Given the description of an element on the screen output the (x, y) to click on. 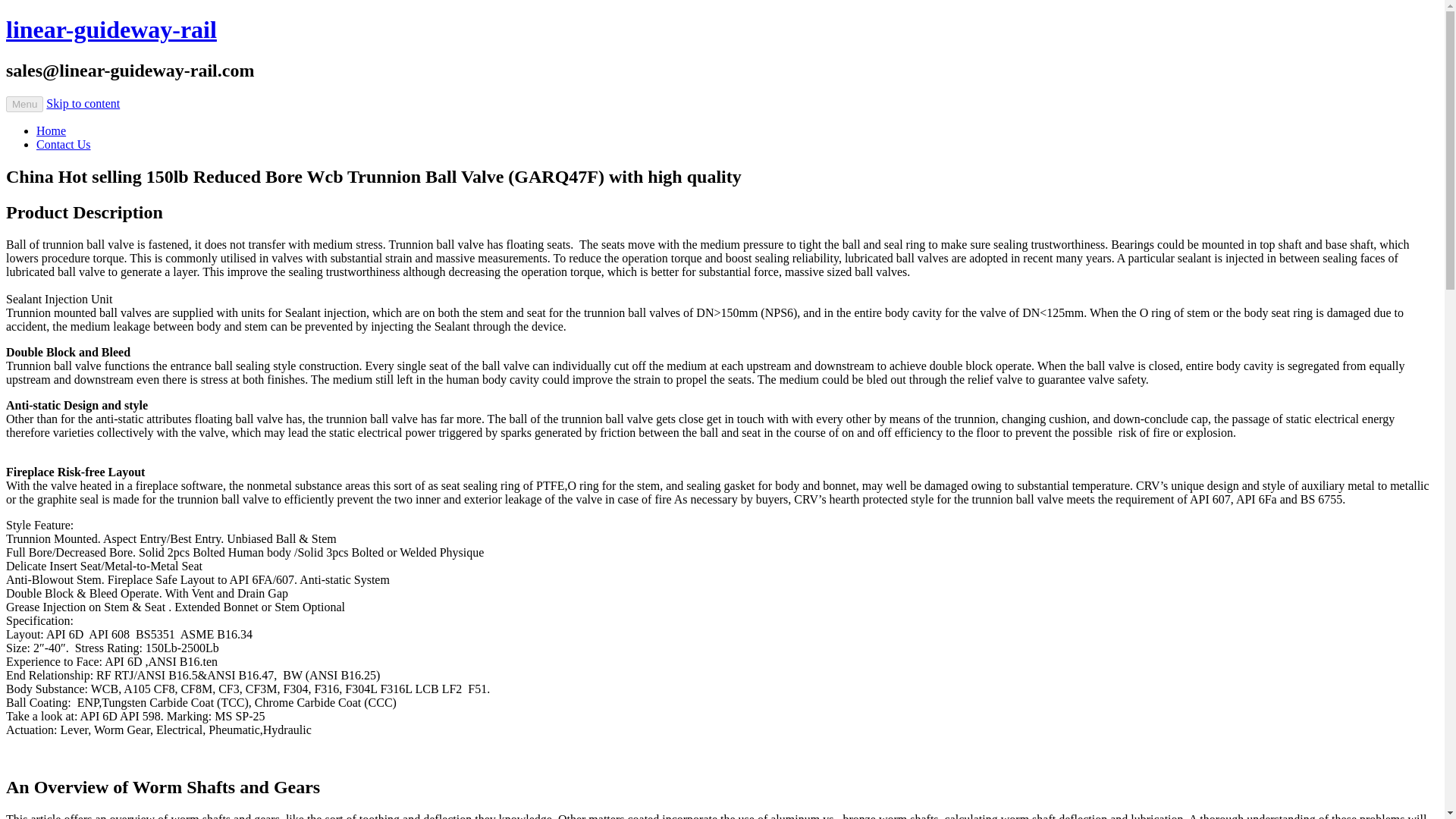
Contact Us (63, 144)
Home (50, 130)
Skip to content (82, 103)
linear-guideway-rail (110, 29)
Menu (24, 104)
